Given the description of an element on the screen output the (x, y) to click on. 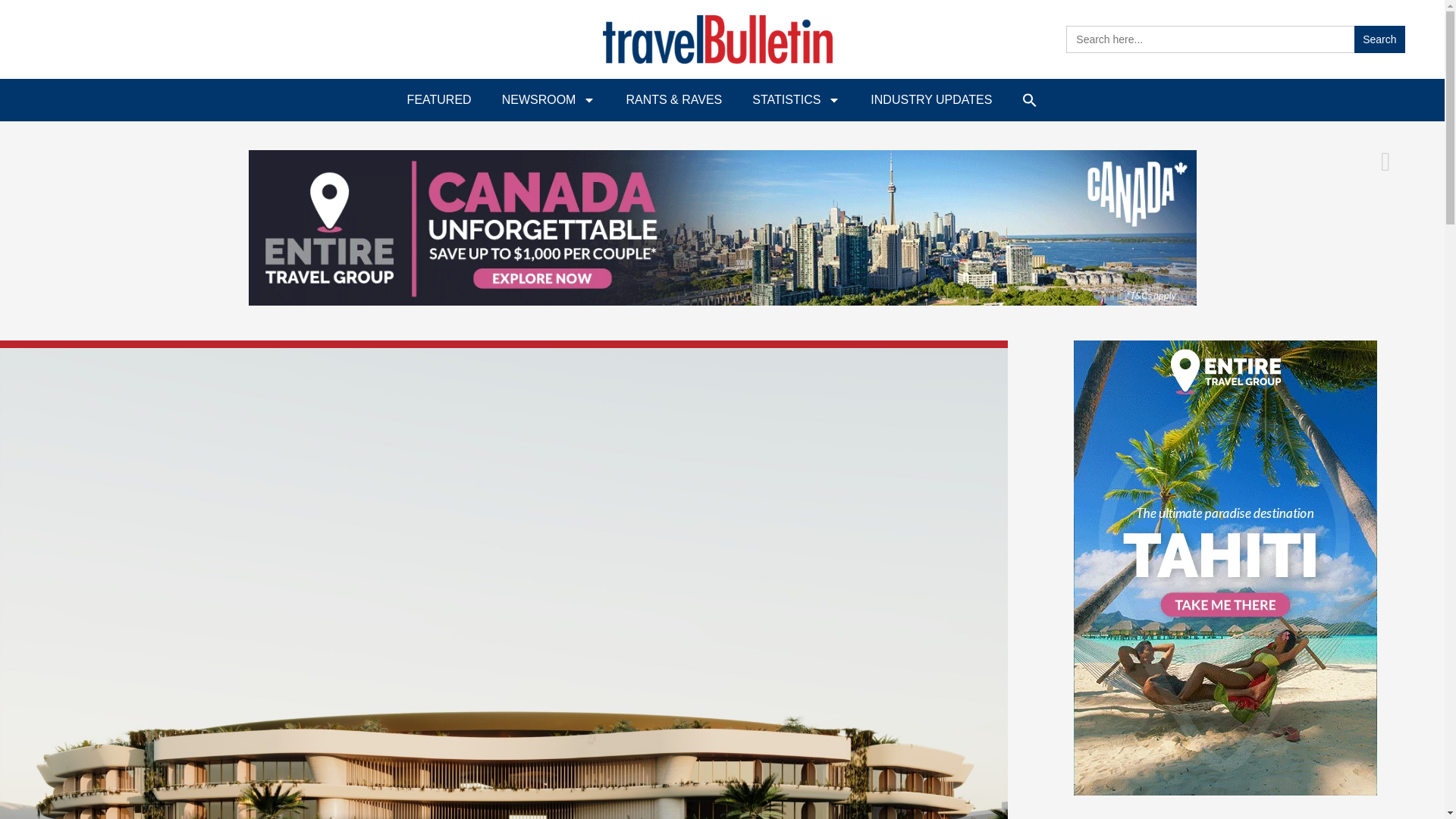
Search (1379, 39)
STATISTICS (796, 99)
NEWSROOM (548, 99)
Search (1379, 39)
FEATURED (438, 99)
Search (1379, 39)
INDUSTRY UPDATES (931, 99)
